Given the description of an element on the screen output the (x, y) to click on. 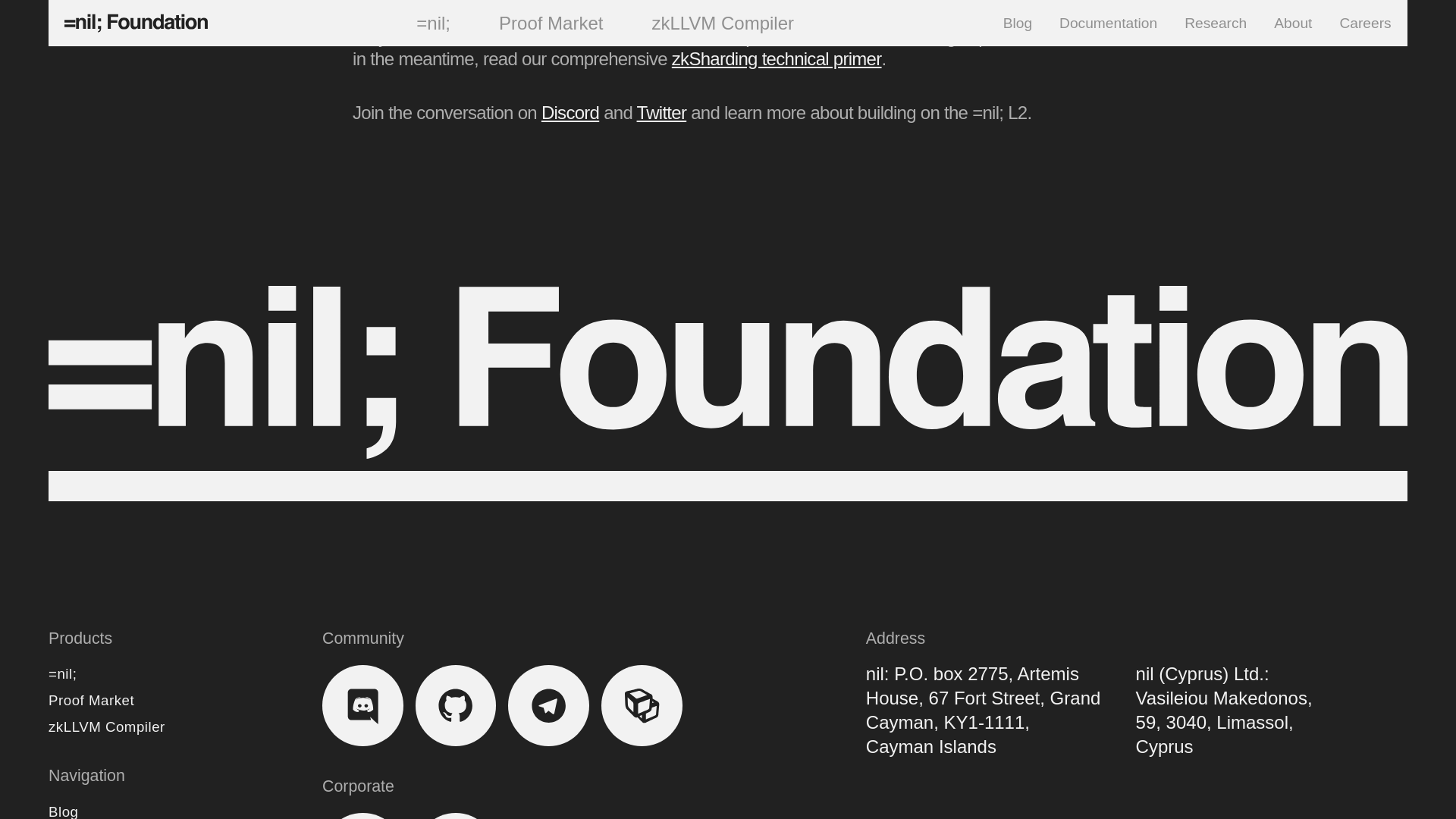
Blog (63, 811)
Twitter (662, 112)
zkSharding technical primer (776, 58)
Discord (569, 112)
zkLLVM Compiler (106, 726)
Proof Market (90, 700)
